Given the description of an element on the screen output the (x, y) to click on. 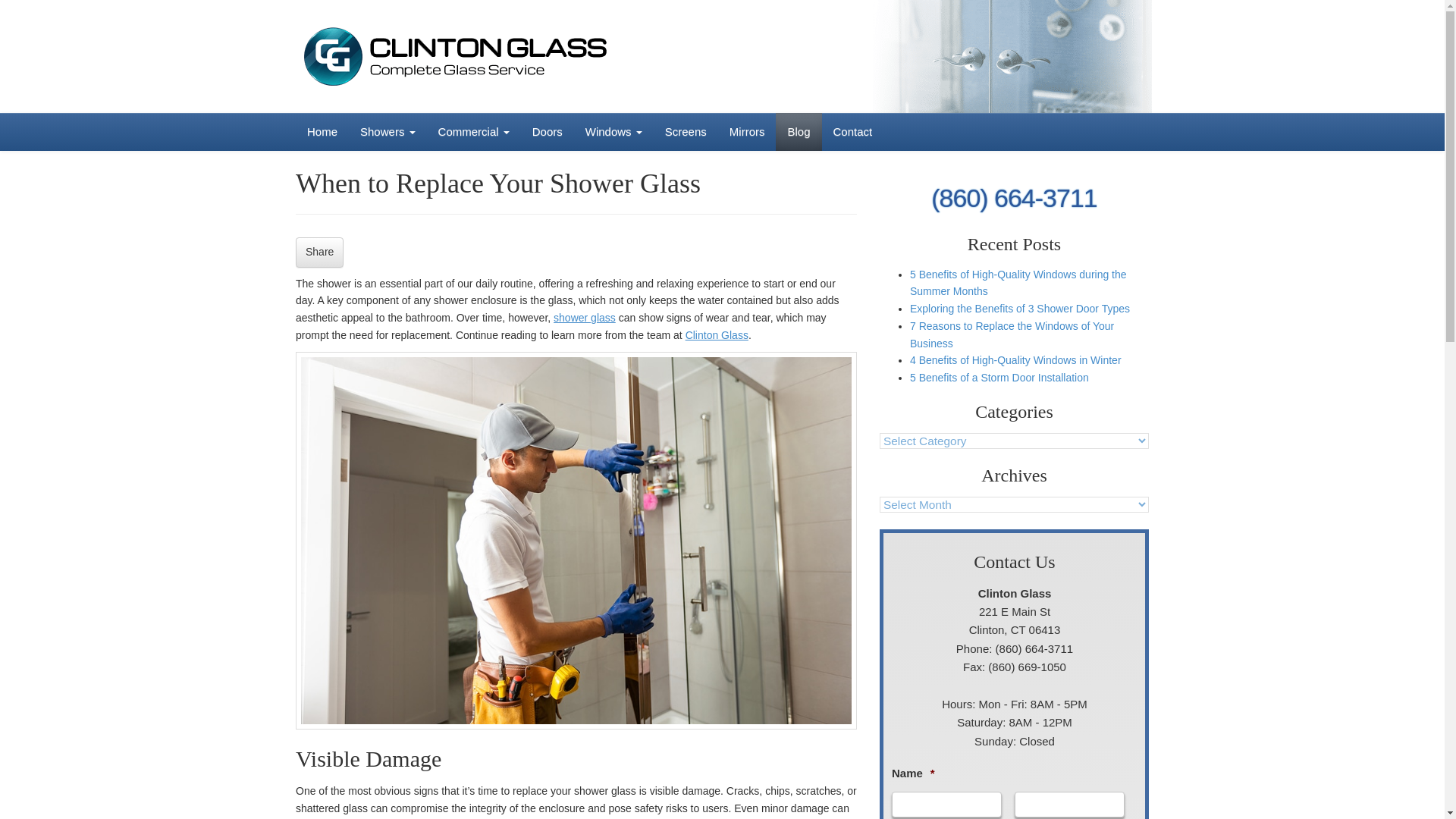
7 Reasons to Replace the Windows of Your Business (1011, 334)
Screens (685, 131)
Windows (613, 131)
Doors (547, 131)
Blog (798, 131)
Glass Door and Storm Door Services (547, 131)
Home (322, 131)
Commercial (473, 131)
Share (319, 252)
Exploring the Benefits of 3 Shower Door Types (1019, 308)
Showers (387, 131)
Contact (852, 131)
shower glass (584, 317)
Contact Us (852, 131)
Mirror Repair and Installation (746, 131)
